Given the description of an element on the screen output the (x, y) to click on. 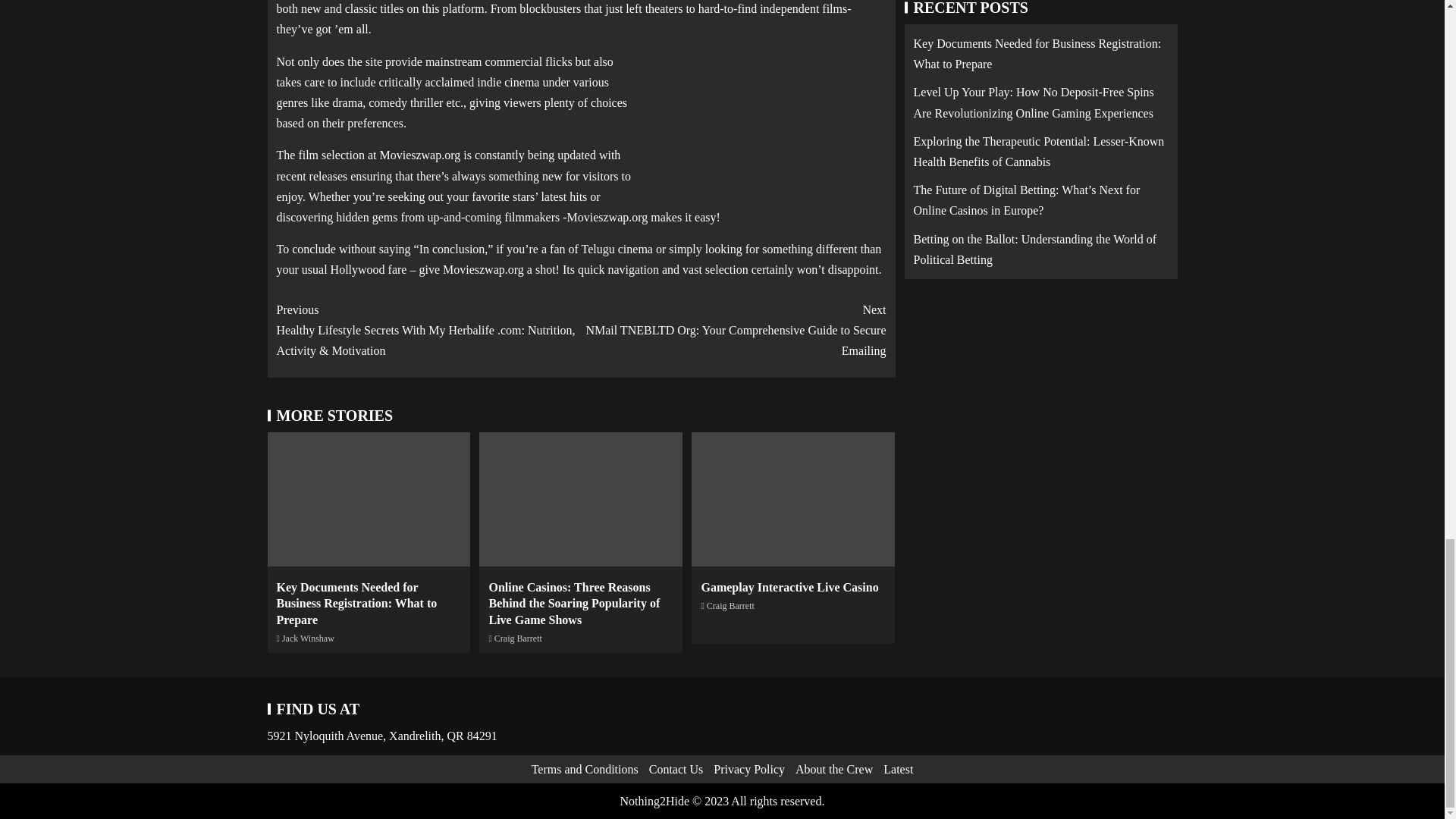
Craig Barrett (730, 605)
Jack Winshaw (308, 638)
Craig Barrett (518, 638)
Gameplay Interactive Live Casino (788, 586)
